Given the description of an element on the screen output the (x, y) to click on. 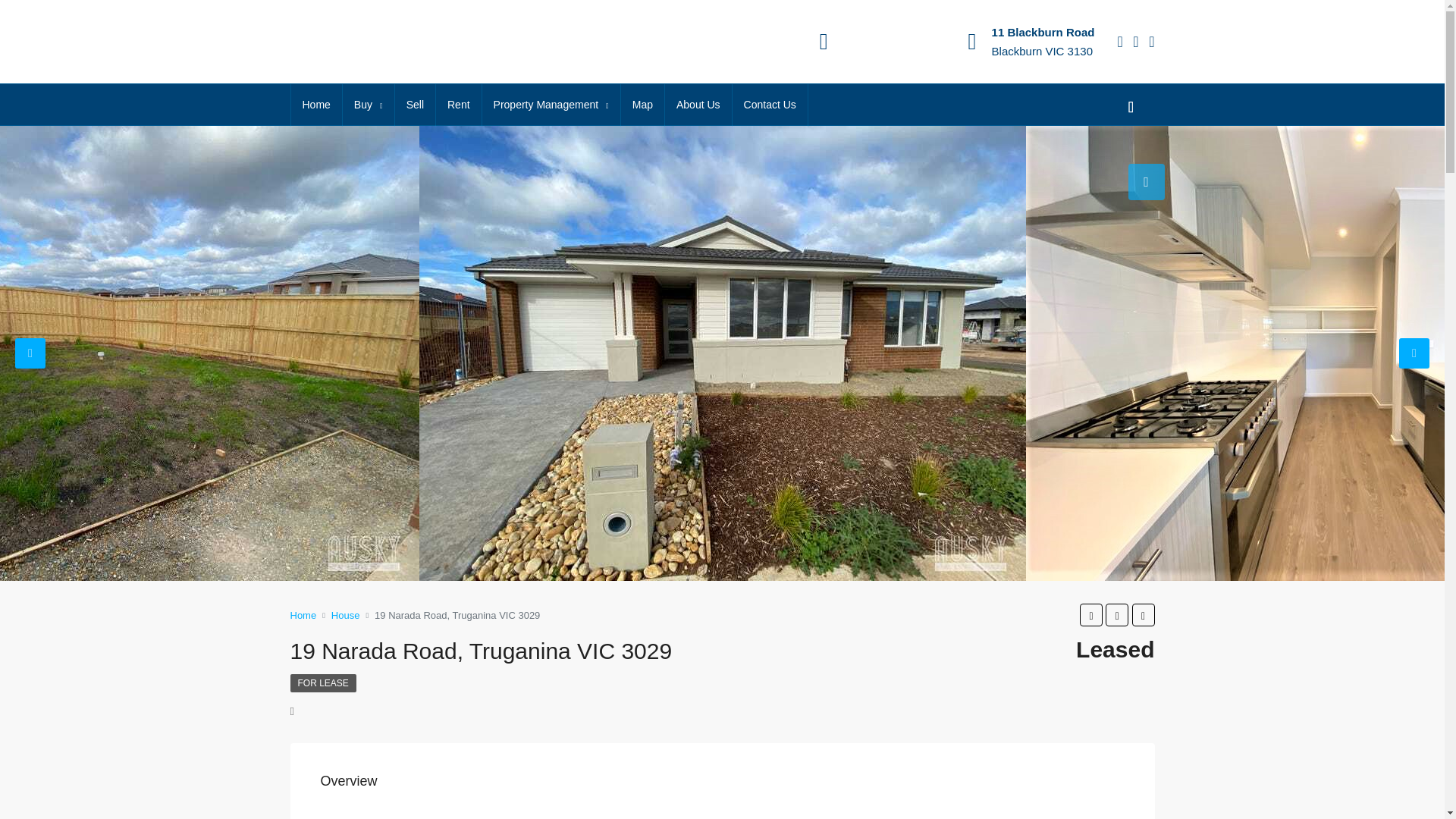
Rent (458, 104)
Property Management (550, 105)
Buy (368, 105)
Home (316, 104)
1800 885 886 (877, 31)
Sell (414, 104)
